Given the description of an element on the screen output the (x, y) to click on. 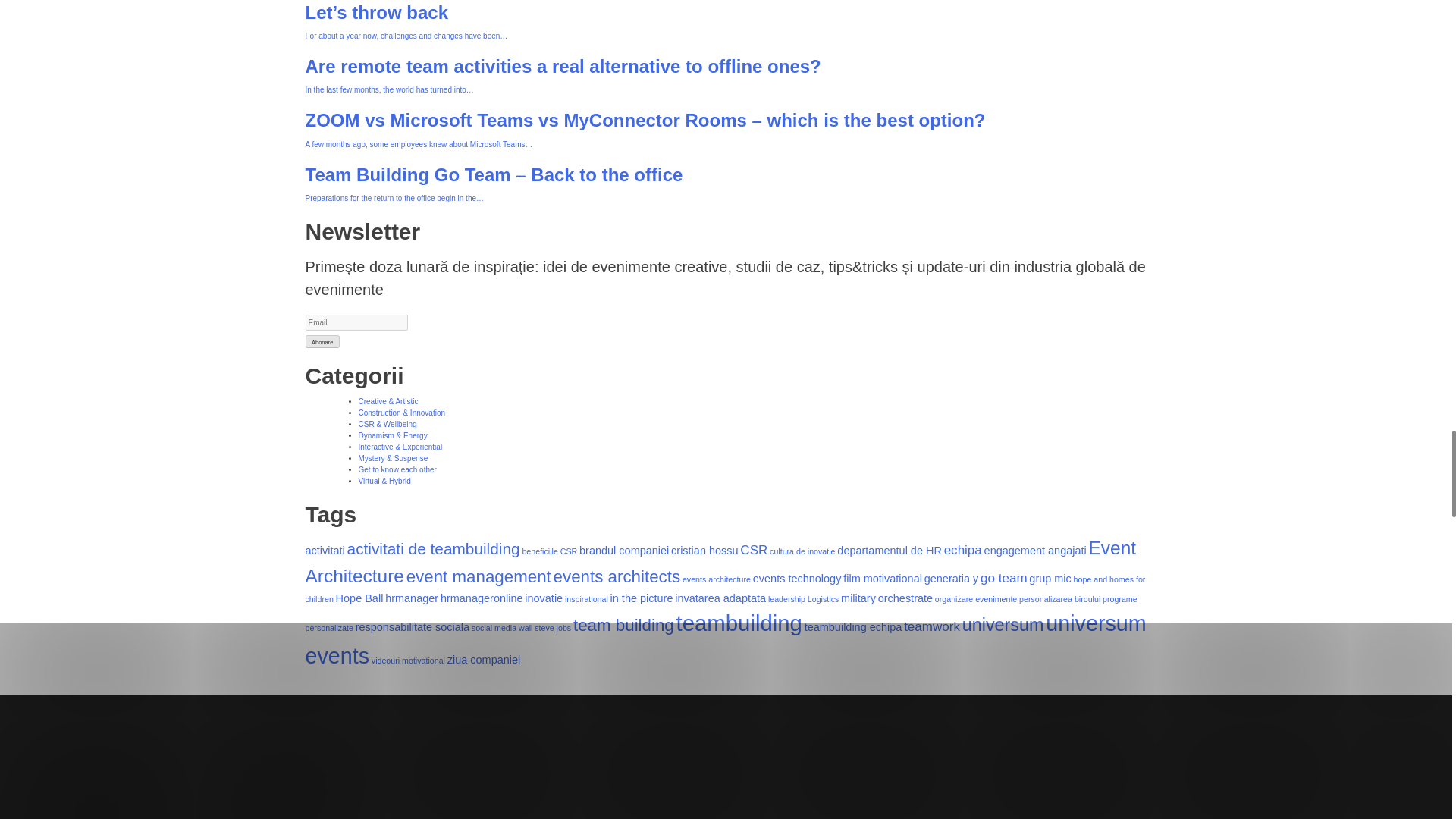
Abonare (321, 341)
